Given the description of an element on the screen output the (x, y) to click on. 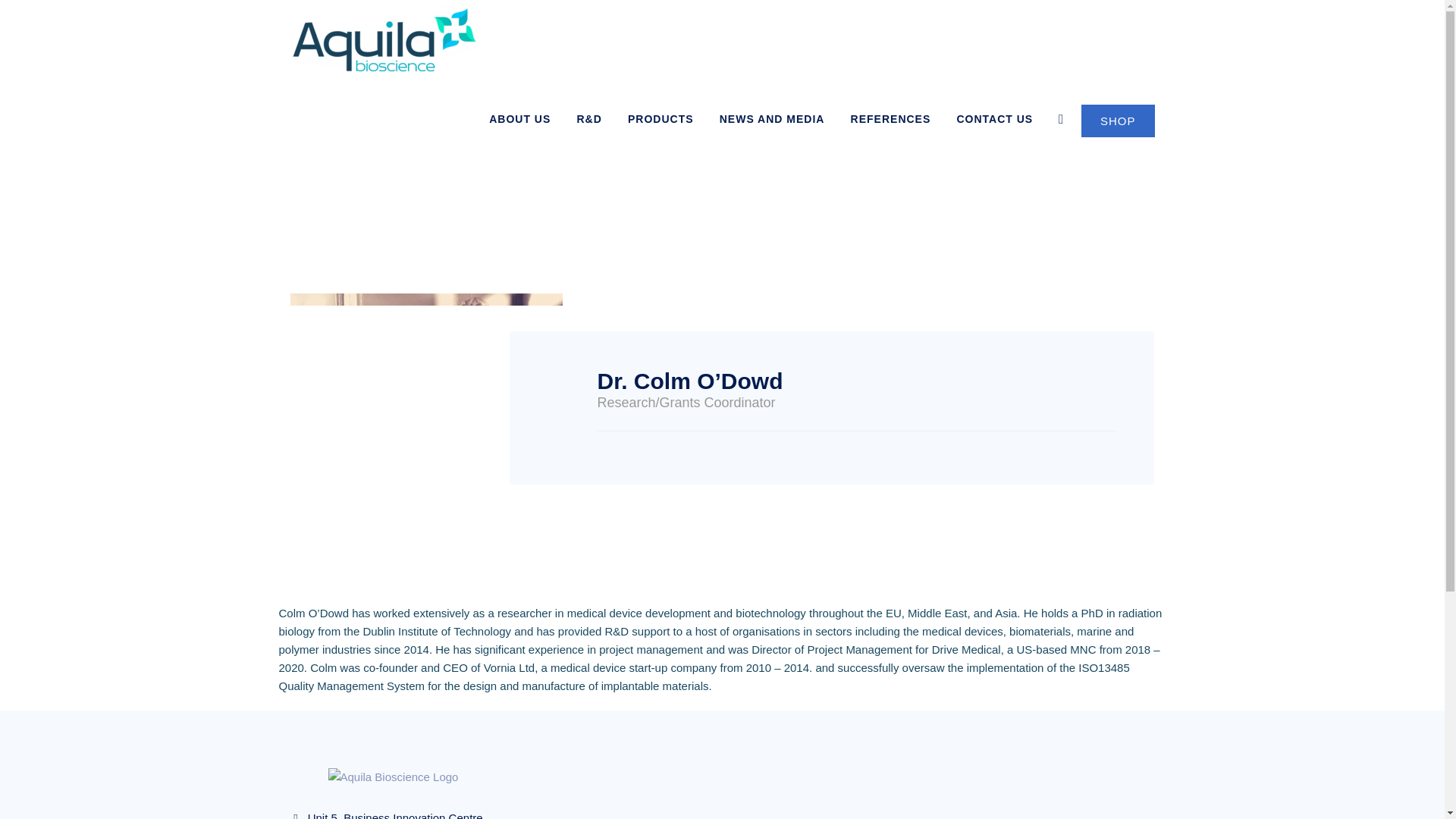
CONTACT US (994, 118)
Aquila Bioscience (384, 39)
NEWS AND MEDIA (772, 118)
REFERENCES (890, 118)
SHOP (1117, 120)
